Given the description of an element on the screen output the (x, y) to click on. 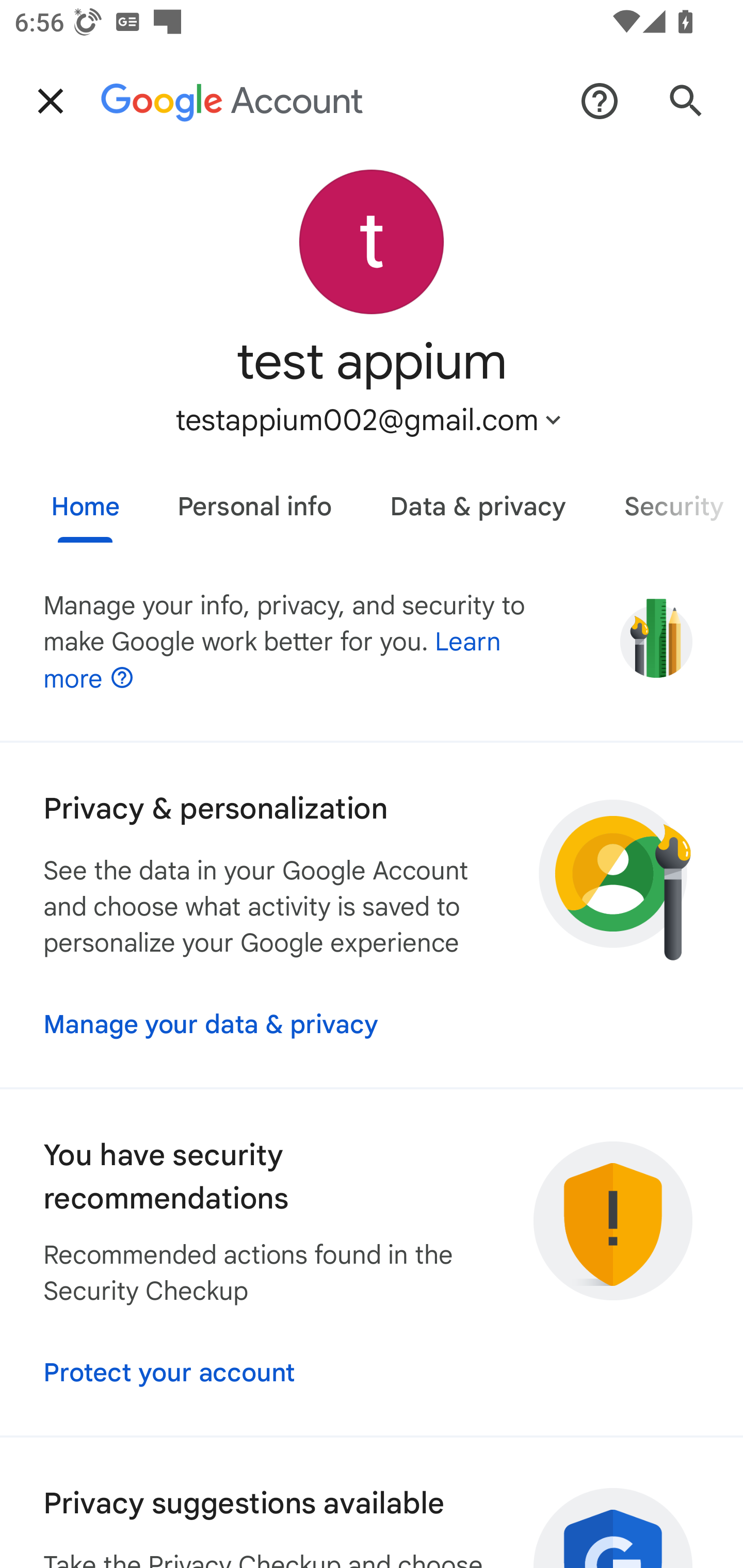
Close (50, 101)
Help (599, 101)
Search (685, 101)
Personal info (254, 499)
Data & privacy (477, 499)
Security (669, 499)
